Given the description of an element on the screen output the (x, y) to click on. 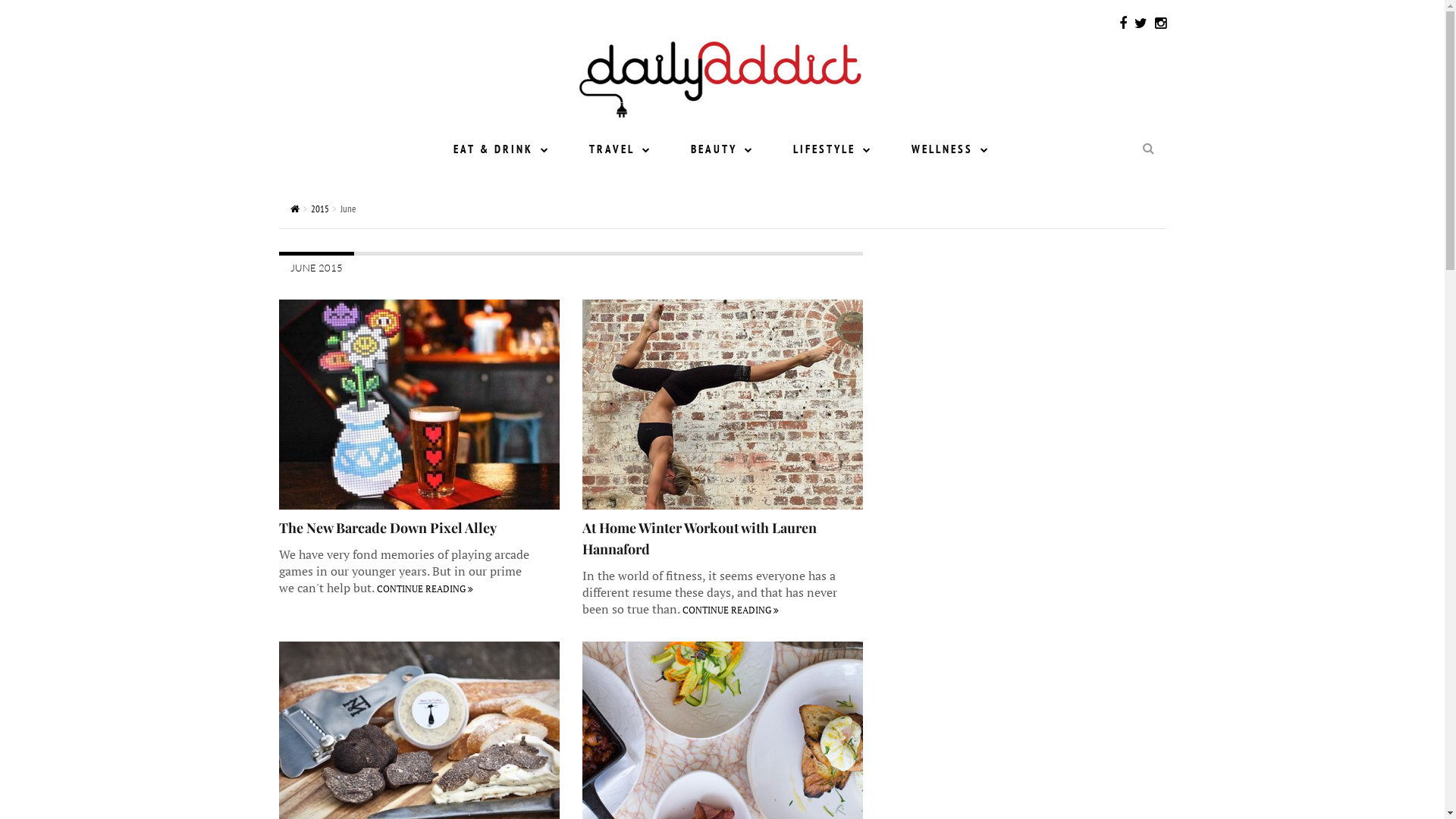
The New Barcade Down Pixel Alley Element type: text (387, 527)
At Home Winter Workout with Lauren Hannaford Element type: text (699, 538)
2015 Element type: text (319, 208)
JUNE 2015 Element type: text (316, 265)
CONTINUE READING Element type: text (424, 588)
BEAUTY Element type: text (722, 148)
Daily Addict -  Element type: hover (719, 73)
TRAVEL Element type: text (620, 148)
LIFESTYLE Element type: text (832, 148)
EAT & DRINK Element type: text (501, 148)
CONTINUE READING Element type: text (730, 609)
WELLNESS Element type: text (950, 148)
